Given the description of an element on the screen output the (x, y) to click on. 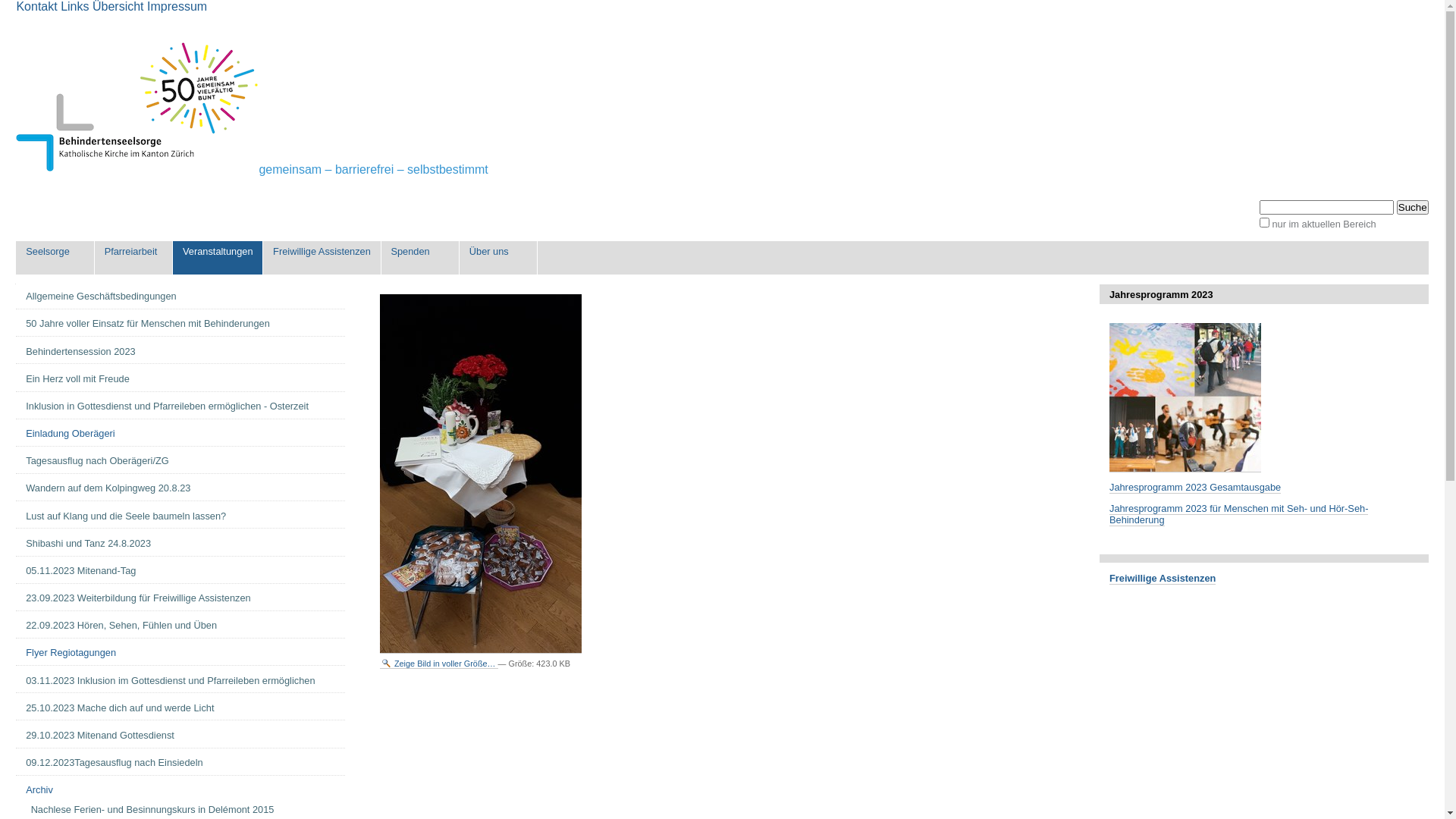
Archiv Element type: text (180, 790)
Impressum Element type: text (177, 6)
Behindertensession 2023 Element type: text (180, 351)
Shibashi und Tanz 24.8.2023 Element type: text (180, 543)
05.11.2023 Mitenand-Tag Element type: text (180, 570)
Kontakt Element type: text (35, 6)
29.10.2023 Mitenand Gottesdienst Element type: text (180, 735)
Jahresprogramm 2023 Gesamtausgabe Element type: text (1194, 487)
Seelsorge Element type: text (54, 257)
Behindertenseelsorge Element type: hover (136, 106)
Freiwillige Assistenzen Element type: text (1162, 578)
Jahresprogramm 2023 Element type: hover (1185, 397)
Navigation Element type: text (15, 288)
Lust auf Klang und die Seele baumeln lassen? Element type: text (180, 516)
Flyer Regiotagungen Element type: text (180, 652)
Veranstaltungen Element type: text (217, 257)
Pfarreiarbeit Element type: text (133, 257)
Ein Herz voll mit Freude Element type: text (180, 379)
Suche Element type: text (1412, 207)
Website durchsuchen Element type: hover (1326, 207)
Wandern auf dem Kolpingweg 20.8.23 Element type: text (180, 488)
Links Element type: text (74, 6)
Spenden Element type: text (420, 257)
09.12.2023Tagesausflug nach Einsiedeln Element type: text (180, 762)
25.10.2023 Mache dich auf und werde Licht Element type: text (180, 708)
Freiwillige Assistenzen Element type: text (321, 257)
